Given the description of an element on the screen output the (x, y) to click on. 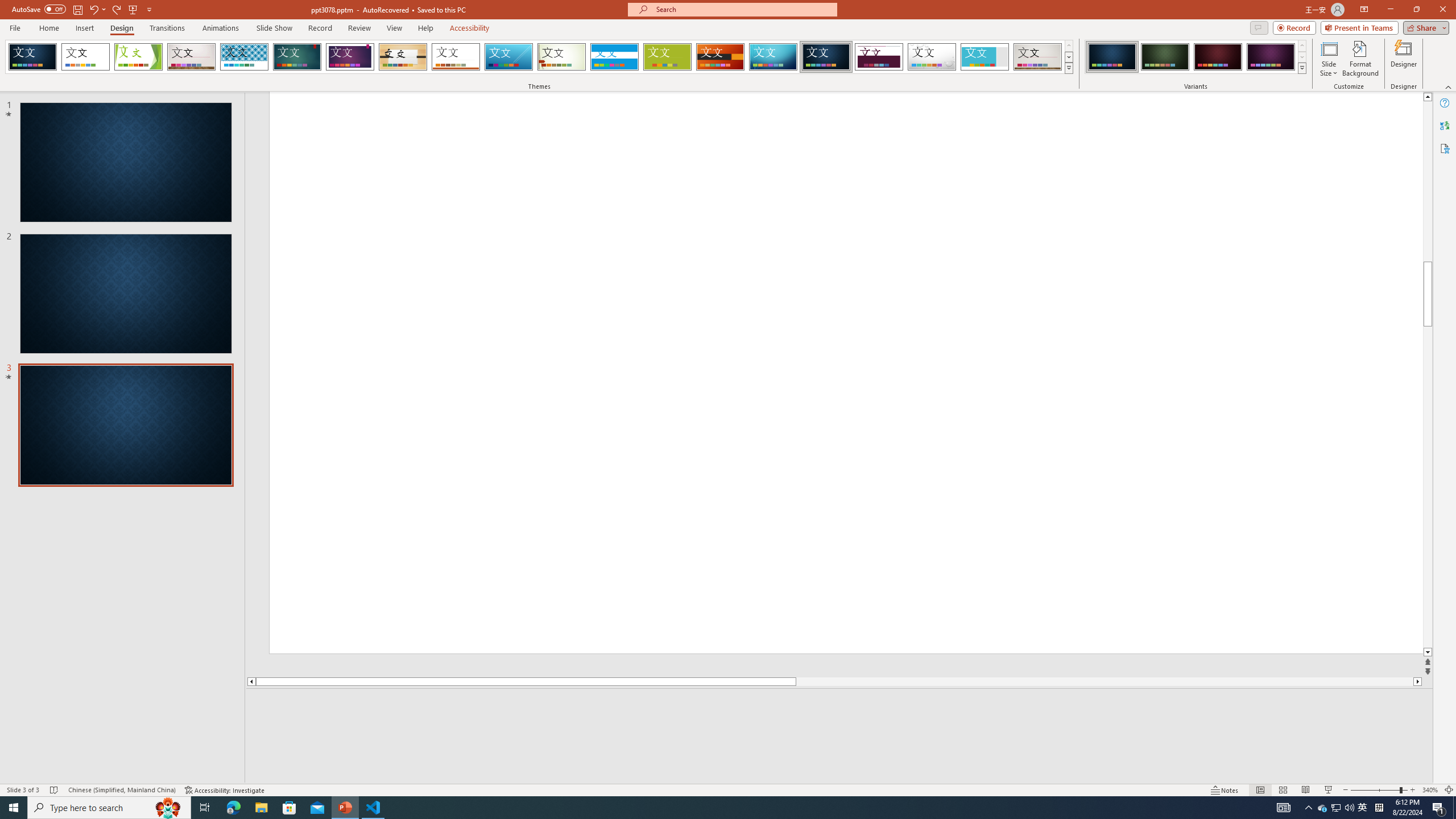
Organic (403, 56)
